Given the description of an element on the screen output the (x, y) to click on. 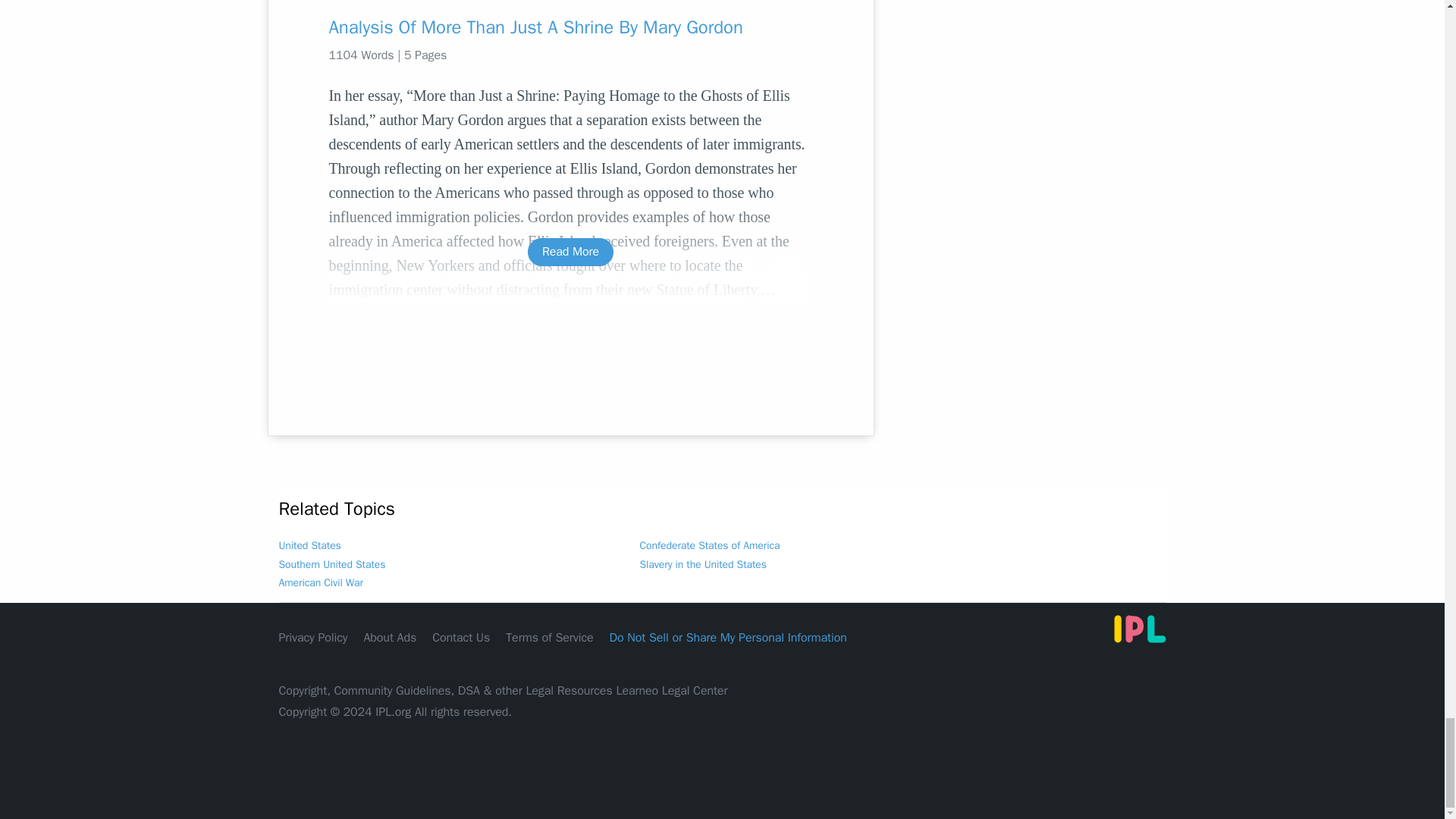
American Civil War (320, 582)
United States (309, 545)
Contact Us (460, 637)
Privacy Policy (313, 637)
Southern United States (332, 563)
Slavery in the United States (703, 563)
About Ads (389, 637)
Confederate States of America (710, 545)
Terms of Service (548, 637)
